Given the description of an element on the screen output the (x, y) to click on. 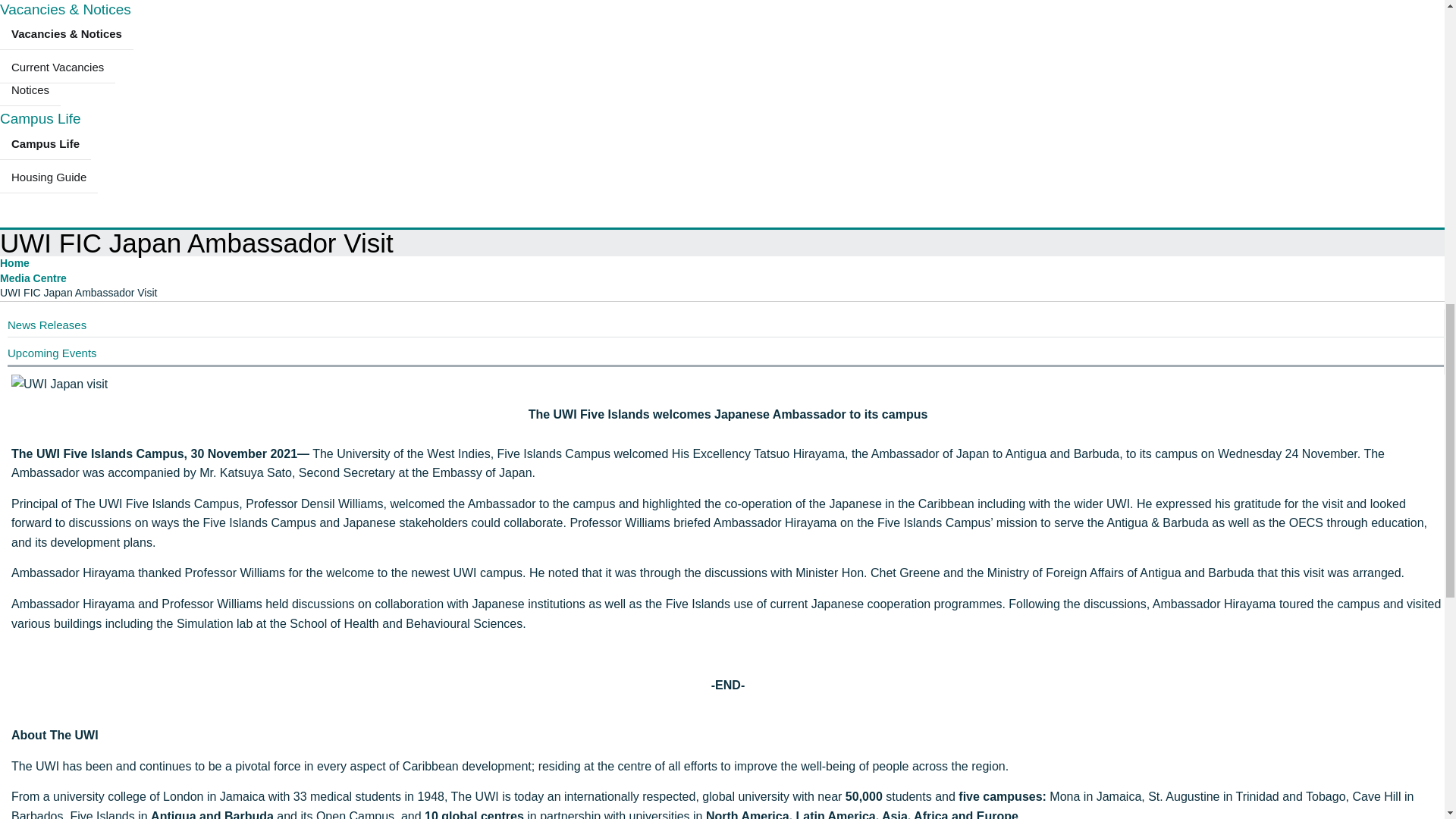
Home (14, 263)
Housing Guide (48, 177)
News Releases (46, 324)
Current Vacancies (57, 67)
Media Centre (33, 277)
Campus Life (40, 118)
Campus Life (45, 143)
Notices (30, 90)
